Given the description of an element on the screen output the (x, y) to click on. 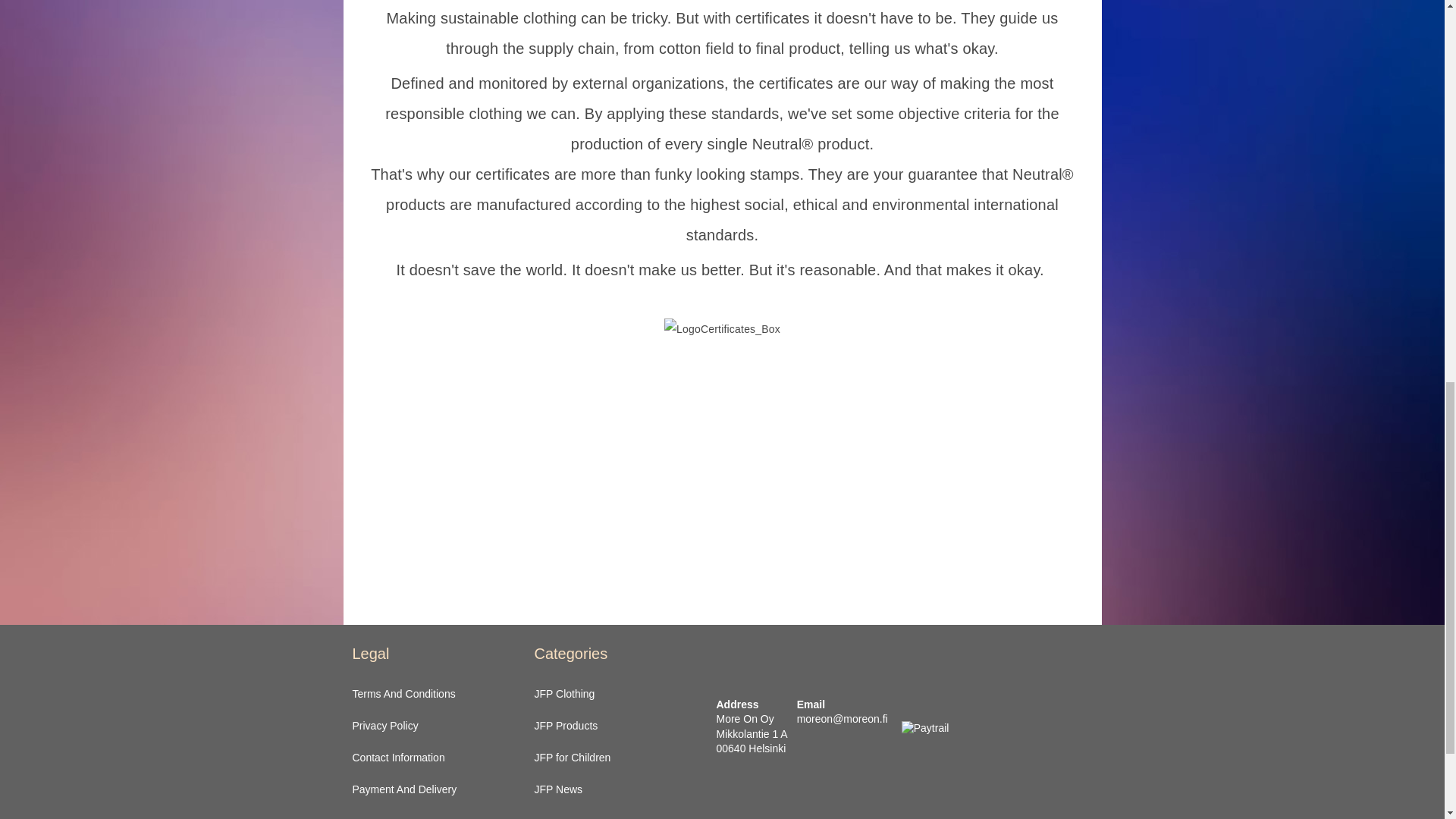
Sovellus (434, 467)
JFP Clothing (564, 693)
JFP Products (565, 725)
Payment And Delivery (404, 788)
JFP News (558, 788)
Paytrail (925, 728)
Terms And Conditions (403, 693)
Privacy Policy (384, 725)
JFP for Children (572, 757)
Contact Information (398, 757)
